Given the description of an element on the screen output the (x, y) to click on. 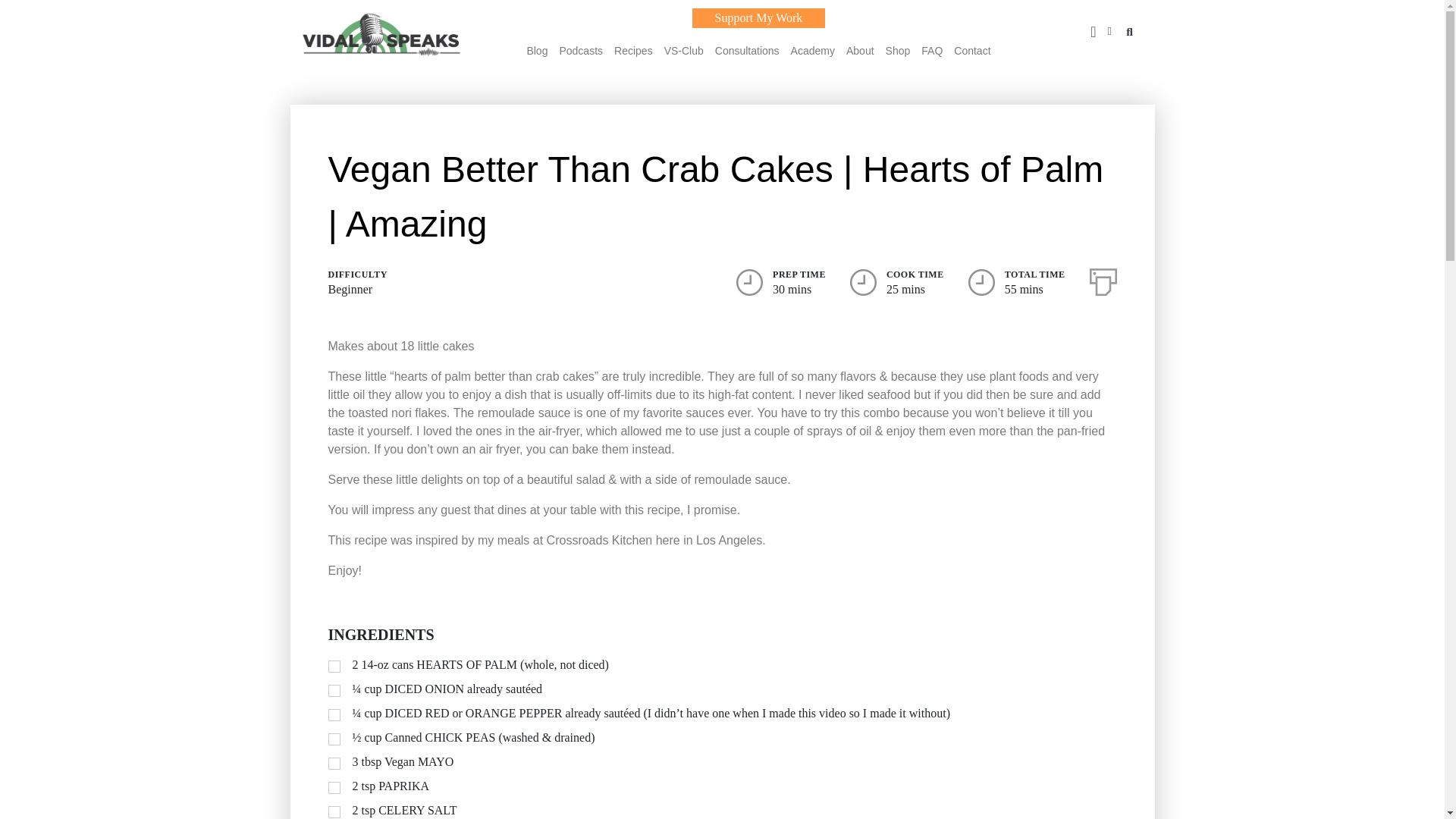
Academy (812, 50)
FAQ (931, 50)
Support My Work (759, 17)
About (860, 50)
Shop (898, 50)
Contact (971, 50)
Consultations (746, 50)
Blog (536, 50)
VS-Club (683, 50)
Recipes (633, 50)
Podcasts (580, 50)
